Given the description of an element on the screen output the (x, y) to click on. 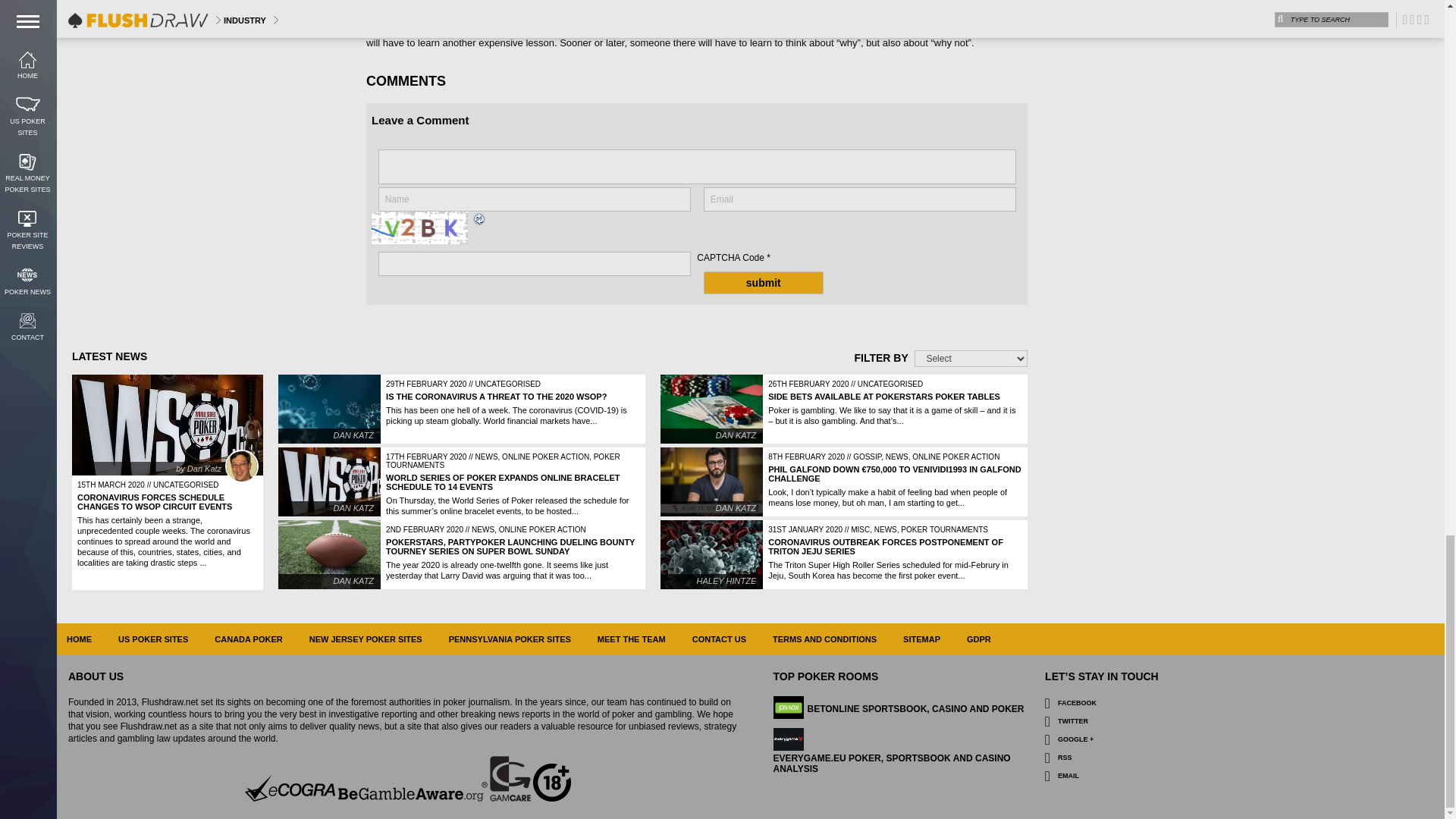
Side Bets Available at PokerStars Poker Tables (711, 408)
CAPTCHA (421, 227)
Coronavirus Forces Schedule Changes to WSOP Circuit Events (154, 502)
Submit (763, 282)
Coronavirus Forces Schedule Changes to WSOP Circuit Events (167, 424)
Is the Coronavirus a Threat to the 2020 WSOP? (329, 408)
Refresh (479, 221)
Side Bets Available at PokerStars Poker Tables (884, 396)
Is the Coronavirus a Threat to the 2020 WSOP? (496, 396)
